Given the description of an element on the screen output the (x, y) to click on. 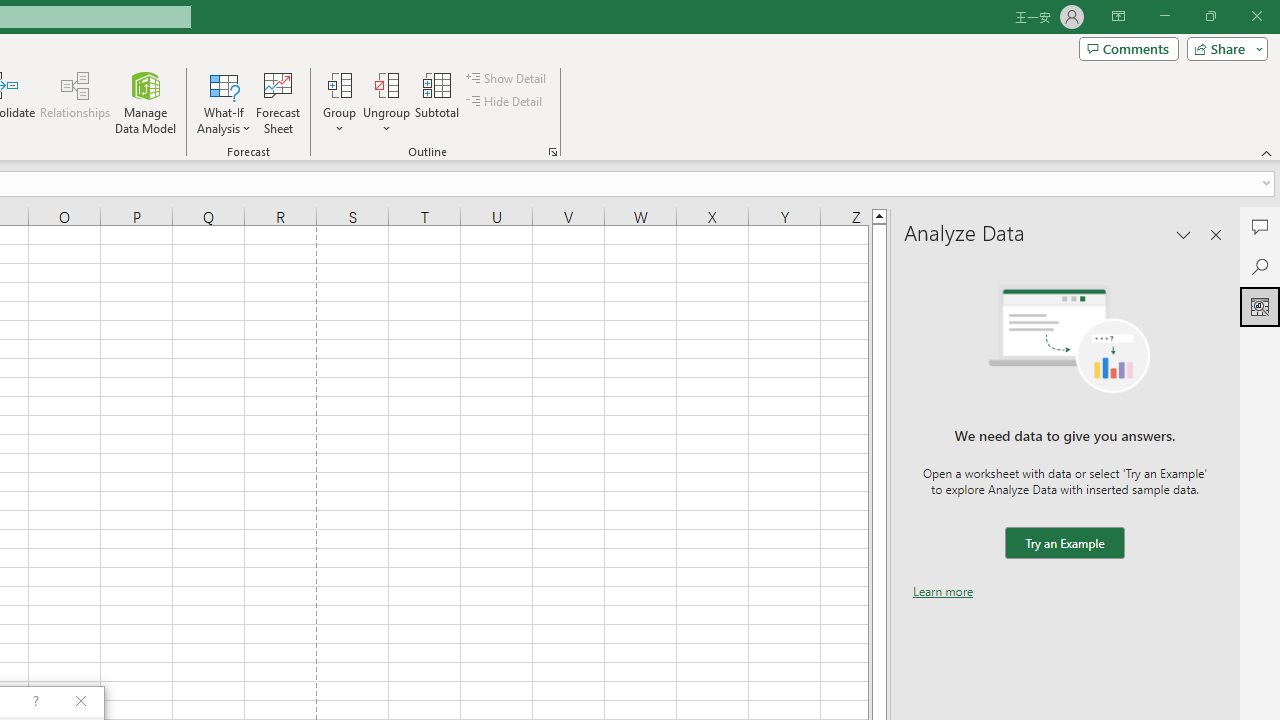
Group... (339, 102)
Manage Data Model (145, 102)
We need data to give you answers. Try an Example (1064, 543)
Collapse the Ribbon (1267, 152)
Forecast Sheet (278, 102)
Close pane (1215, 234)
What-If Analysis (223, 102)
Restore Down (1210, 16)
Minimize (1164, 16)
Share (1223, 48)
Comments (1260, 226)
Ungroup... (386, 84)
Subtotal (437, 102)
